Given the description of an element on the screen output the (x, y) to click on. 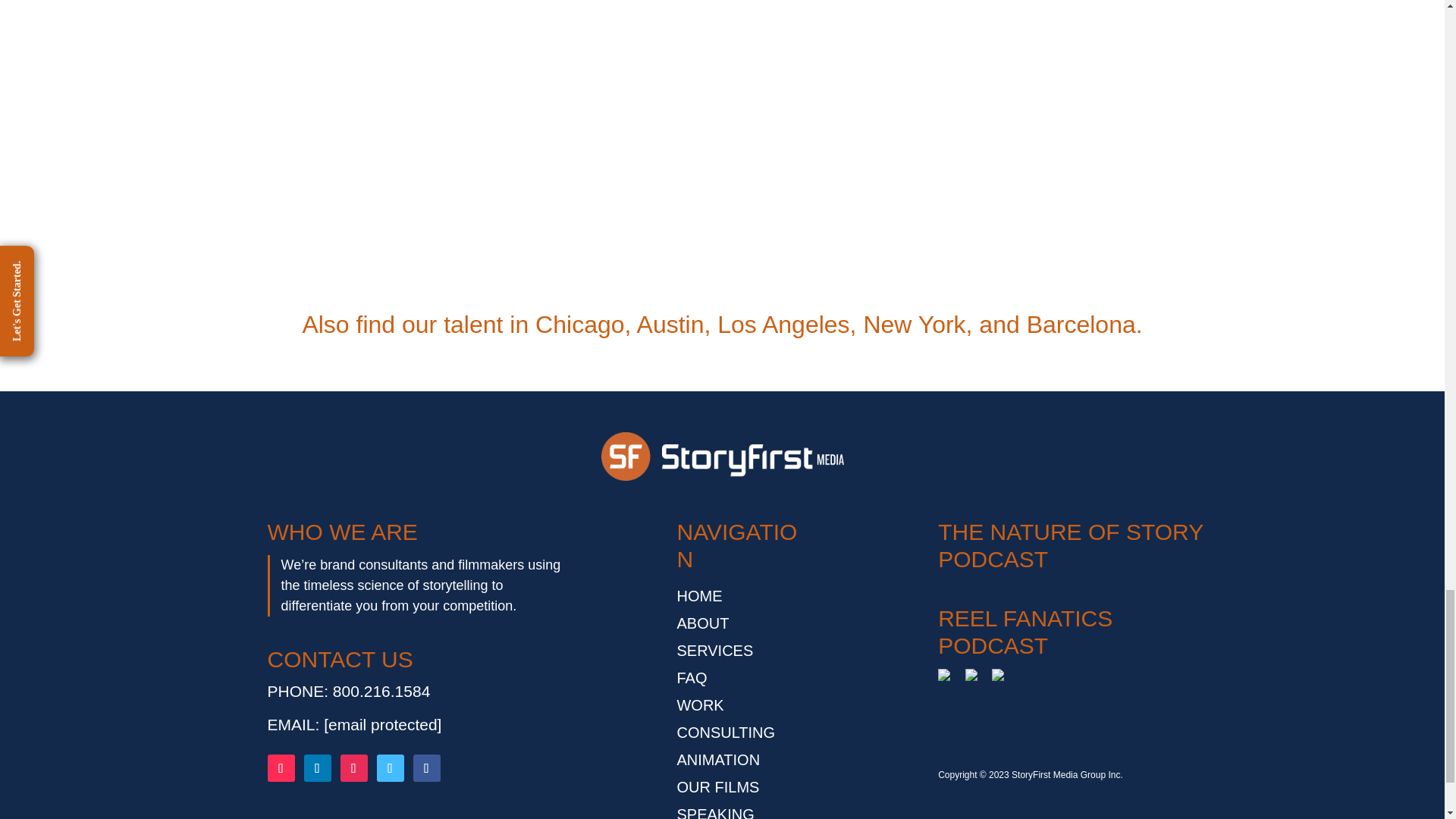
608.286.3826 (359, 84)
Follow on Vimeo (389, 768)
Follow on LinkedIn (316, 768)
SF-logo-800w (721, 456)
414.209.0165 (1083, 84)
Follow on Instagram (352, 768)
800.216.1584 (381, 691)
Follow on Facebook (425, 768)
Follow on TikTok (280, 768)
